Given the description of an element on the screen output the (x, y) to click on. 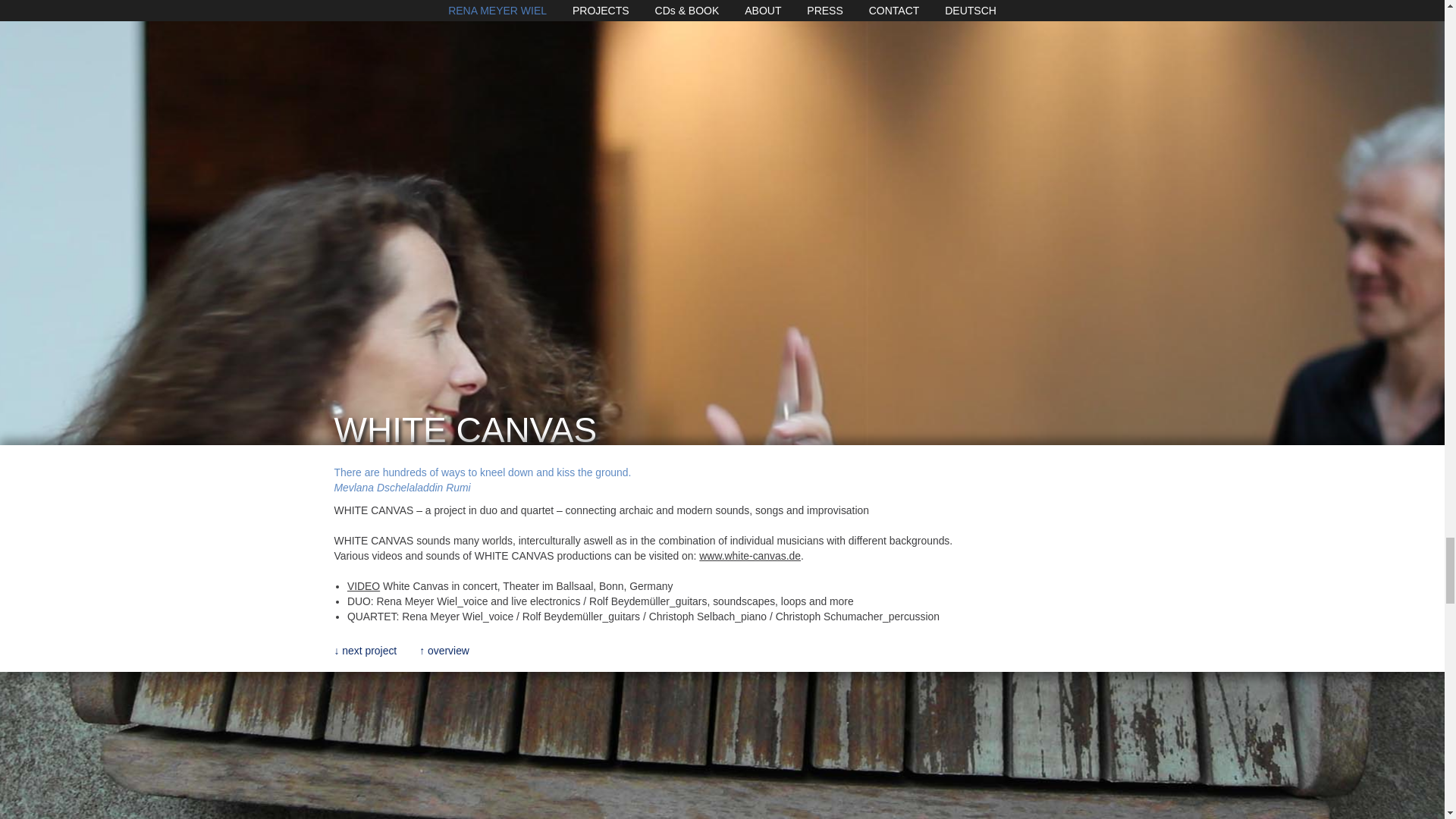
VIDEO (363, 585)
www.white-canvas.de (749, 555)
